Given the description of an element on the screen output the (x, y) to click on. 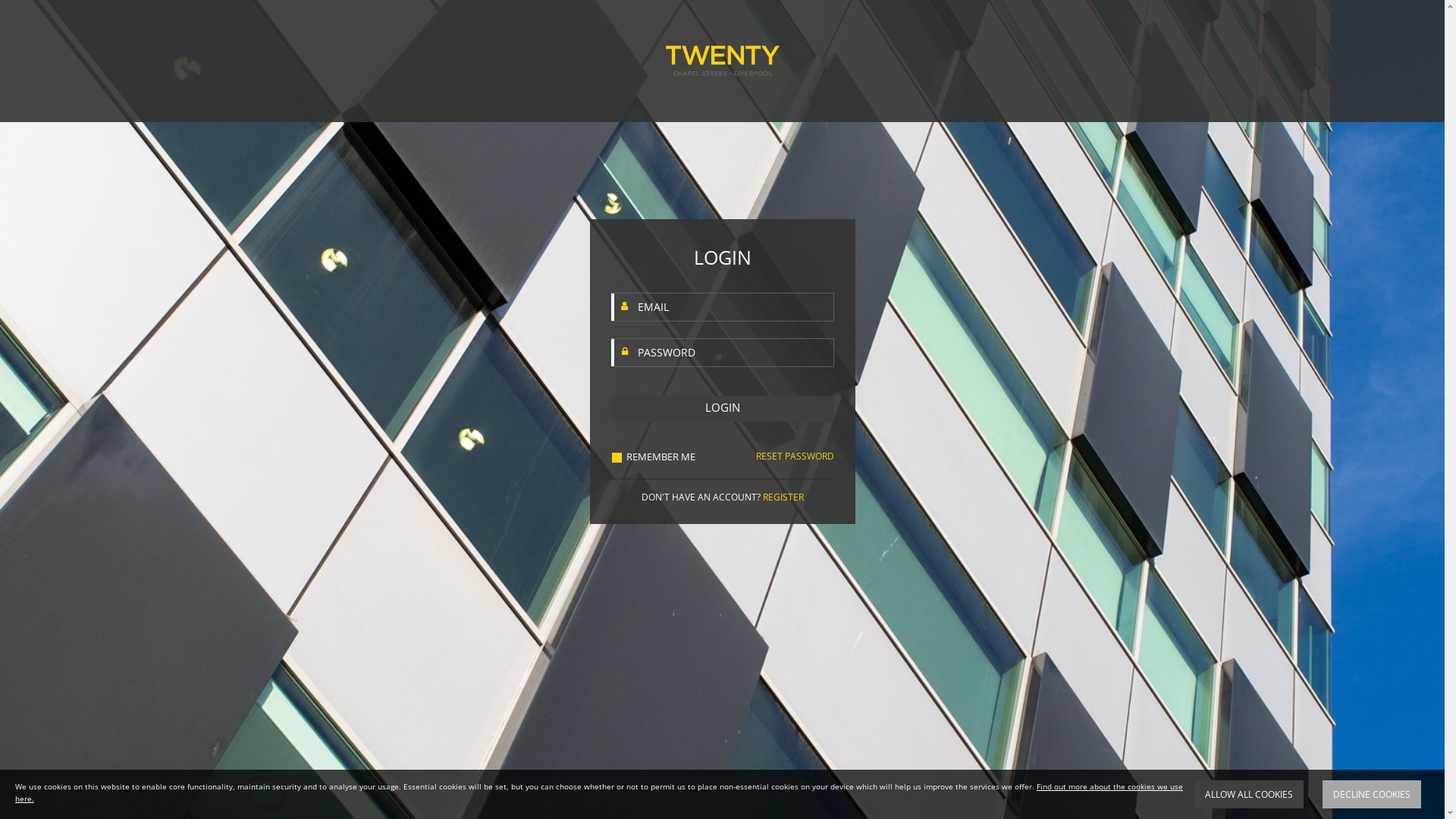
LOGIN Element type: text (722, 408)
Find out more about the cookies we use here. Element type: text (599, 792)
DECLINE COOKIES Element type: text (1371, 794)
RESET PASSWORD Element type: text (794, 456)
ALLOW ALL COOKIES Element type: text (1248, 794)
REGISTER Element type: text (782, 496)
Twenty Chapel Street Element type: hover (722, 60)
